Given the description of an element on the screen output the (x, y) to click on. 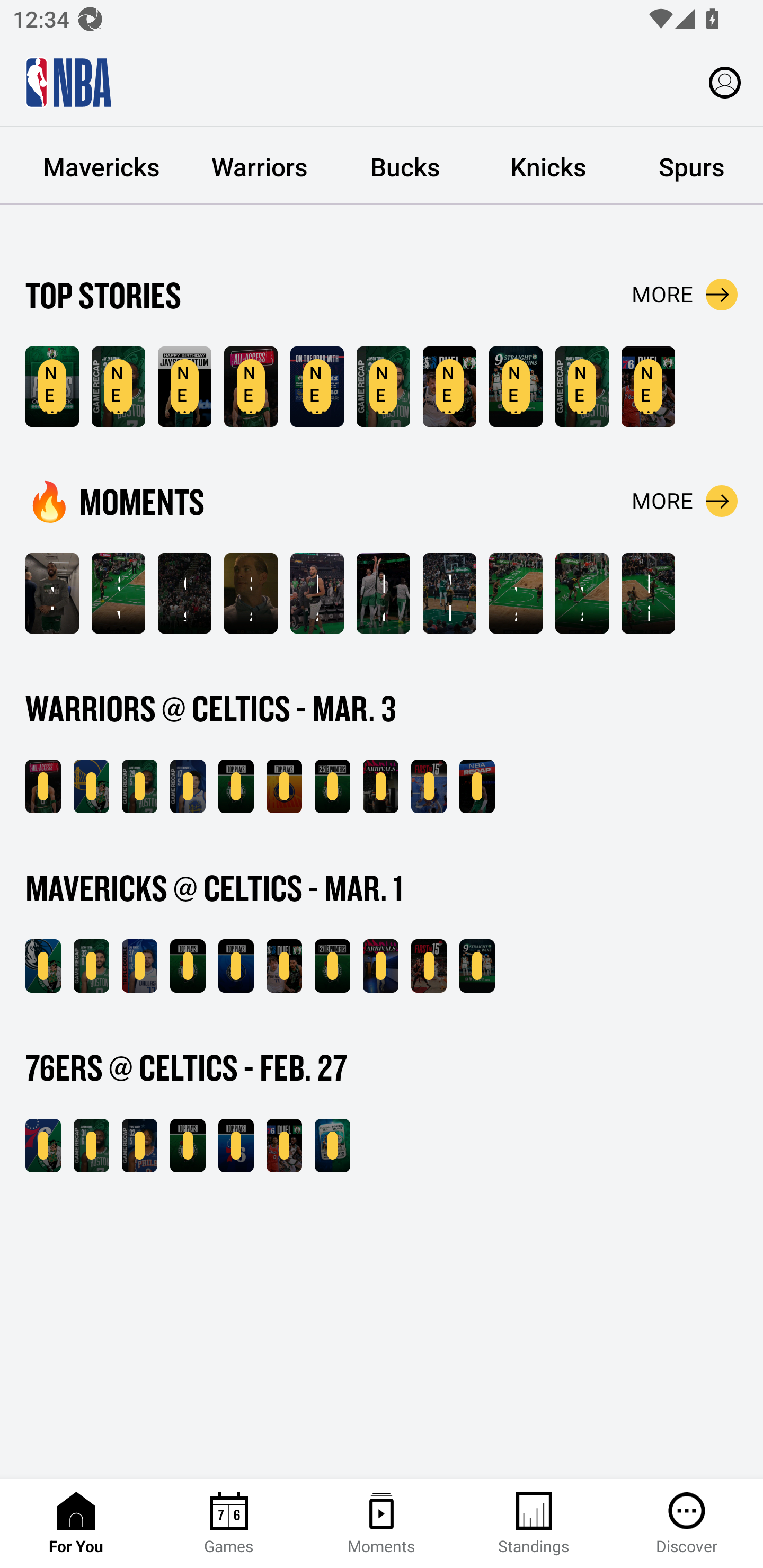
Profile (724, 81)
Mavericks (101, 166)
Warriors (260, 166)
Bucks (405, 166)
Knicks (547, 166)
Spurs (691, 166)
MORE (684, 294)
NEW BOS' Top Plays of Week 19 (51, 386)
NEW Highlights From Jaylen Brown's 29-Point Game (117, 386)
NEW Happy Birthday Jayson Tatum! 🎉 (184, 386)
NEW Warriors And Celtics Clash At TD Garden 🍀 (250, 386)
NEW On The Road With Hotels.com (317, 386)
Highlights From Jayson Tatum's 32-Point Game NEW (383, 386)
Luka & Tatum Go Toe-To-Toe NEW (449, 386)
Highlights From Jaylen Brown's 31-Point Game NEW (581, 386)
Maxey & Brown Show Out In Faceoff NEW (648, 386)
MORE (684, 500)
JT Sounds Off On The Birthday Win 🥳 (51, 593)
Svi Mykhailiuk from deep! (117, 593)
Oshae Brissett throws it down (184, 593)
Sam Hauser hits from way downtown (250, 593)
Happy 26th Birthday To Jayson Tatum! 🍀 (317, 593)
Deuce's Dad 💚 (383, 593)
White Finds JB On The Backdoor Cut For The Jam 💥 (449, 593)
Jaylen Brown with the feed (515, 593)
Jaylen Brown with the slam (581, 593)
Nice dish from Jayson Tatum (648, 593)
NEW Warriors And Celtics Clash At TD Garden 🍀 (43, 785)
NEW BOS 140, GSW 88 - Mar 3 (91, 785)
NEW Highlights From Jaylen Brown's 29-Point Game (139, 785)
NEW Highlights From Lester Quinones' 17-Point Game (187, 785)
NEW BOS' Top Plays from GSW vs. BOS (236, 785)
GSW's Top Plays from GSW vs. BOS NEW (284, 785)
All 3-pointers from BOS' 25 3-pointer Night NEW (332, 785)
Steppin' Into Sunday 🔥 NEW (380, 785)
First To 15, Mar. 3rd NEW (428, 785)
Sunday's Recap NEW (477, 785)
NEW BOS 138, DAL 110 - Mar 1 (43, 965)
NEW Highlights From Jayson Tatum's 32-Point Game (91, 965)
NEW Highlights from Luka Doncic's Triple-Double (139, 965)
NEW BOS' Top Plays from DAL vs. BOS (187, 965)
NEW DAL's Top Plays from DAL vs. BOS (236, 965)
Luka & Tatum Go Toe-To-Toe NEW (284, 965)
All 3's from BOS' 21 3-Pointer Night NEW (332, 965)
Which Fit From Friday Would You Rock? 🤔 NEW (380, 965)
First To 15: Mar. 1st NEW (428, 965)
NEW BOS 117, PHI 99 - Feb 27 (43, 1145)
NEW Highlights From Jaylen Brown's 31-Point Game (91, 1145)
NEW Highlights From Tyrese Maxey's 32-Point Game (139, 1145)
NEW BOS's Top Plays from PHI vs. BOS (187, 1145)
NEW PHI's Top Plays from PHI vs. BOS (236, 1145)
Maxey & Brown Show Out In Faceoff NEW (284, 1145)
Eastern Conference Clash: 76ers Vs. Celtics ⚔️ NEW (332, 1145)
Games (228, 1523)
Moments (381, 1523)
Standings (533, 1523)
Discover (686, 1523)
